Given the description of an element on the screen output the (x, y) to click on. 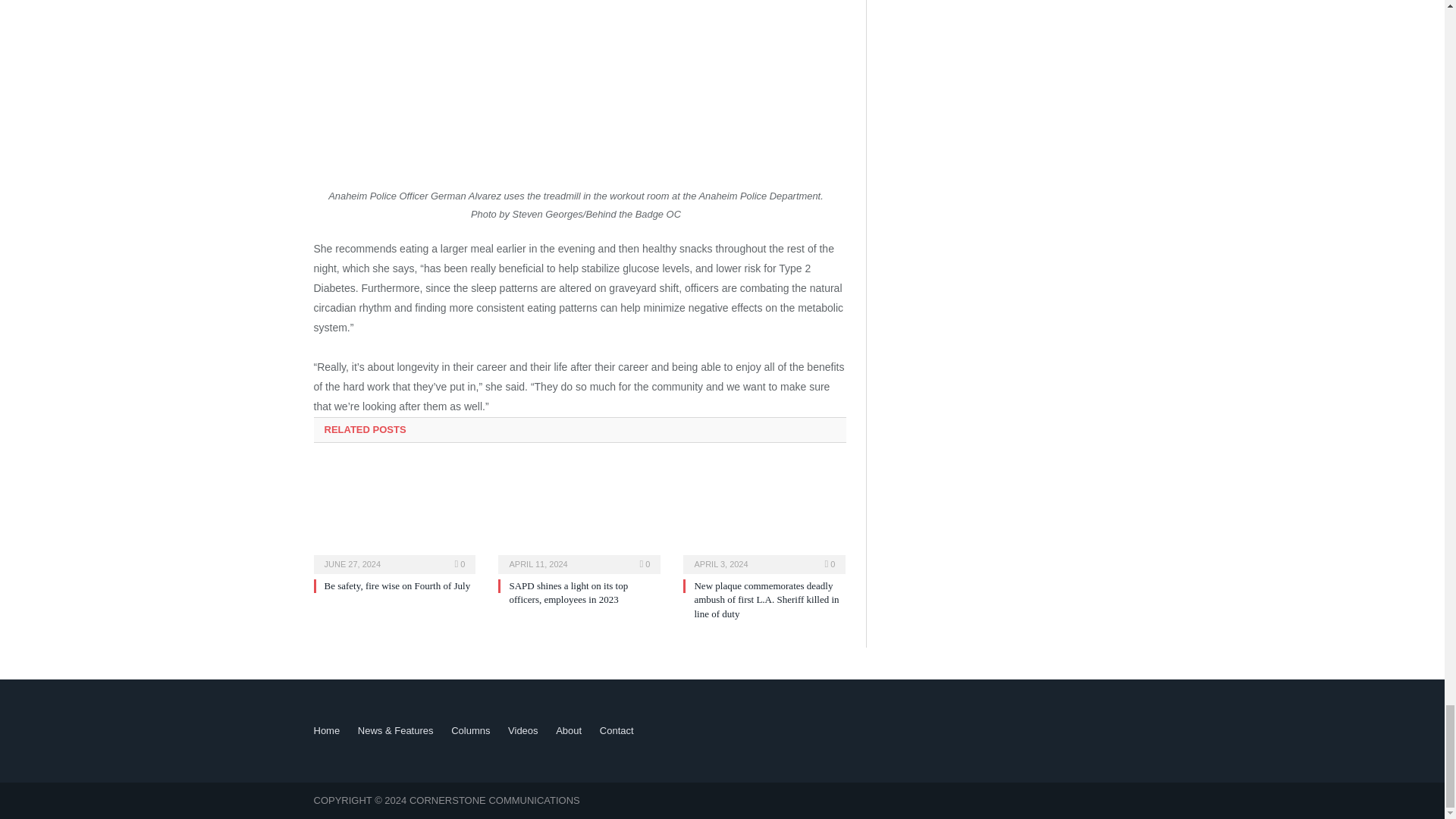
0 (645, 563)
SAPD shines a light on its top officers, employees in 2023 (579, 517)
SAPD shines a light on its top officers, employees in 2023 (567, 592)
Be safety, fire wise on Fourth of July (397, 585)
SAPD shines a light on its top officers, employees in 2023 (567, 592)
Be safety, fire wise on Fourth of July (395, 517)
0 (459, 563)
0 (830, 563)
Be safety, fire wise on Fourth of July (397, 585)
